Given the description of an element on the screen output the (x, y) to click on. 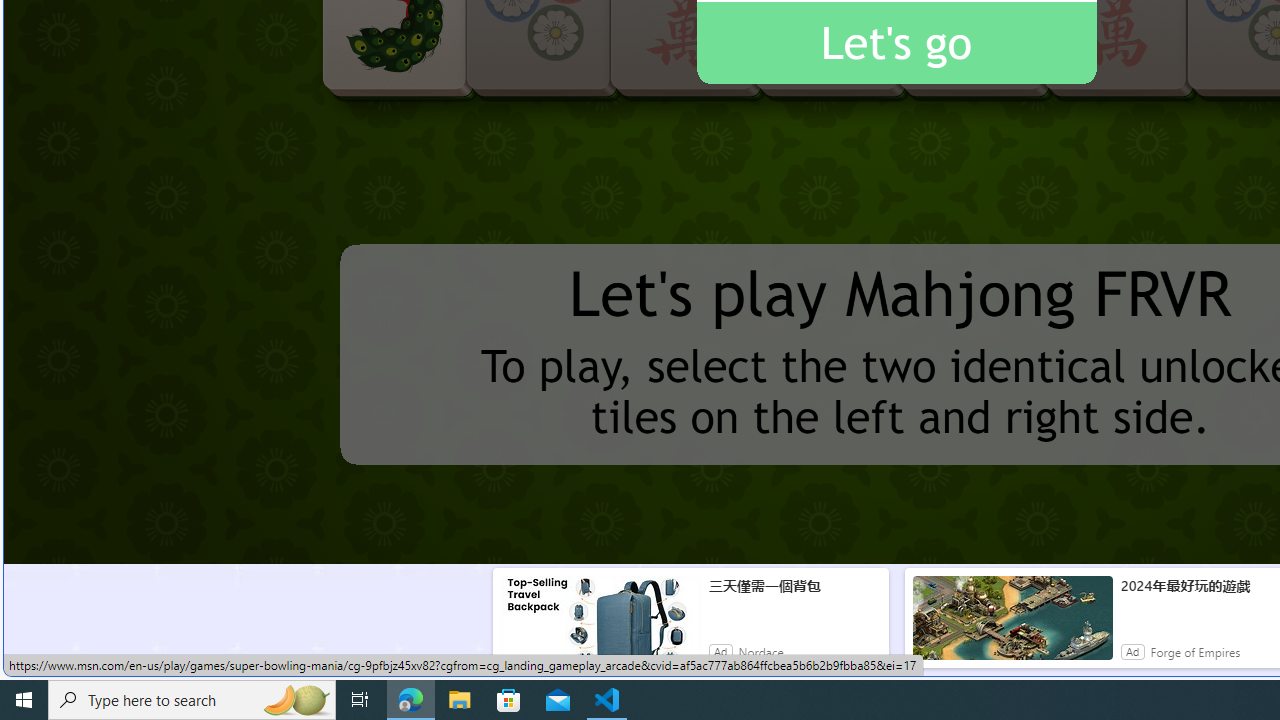
anim-content (1012, 626)
Forge of Empires (1195, 651)
